Given the description of an element on the screen output the (x, y) to click on. 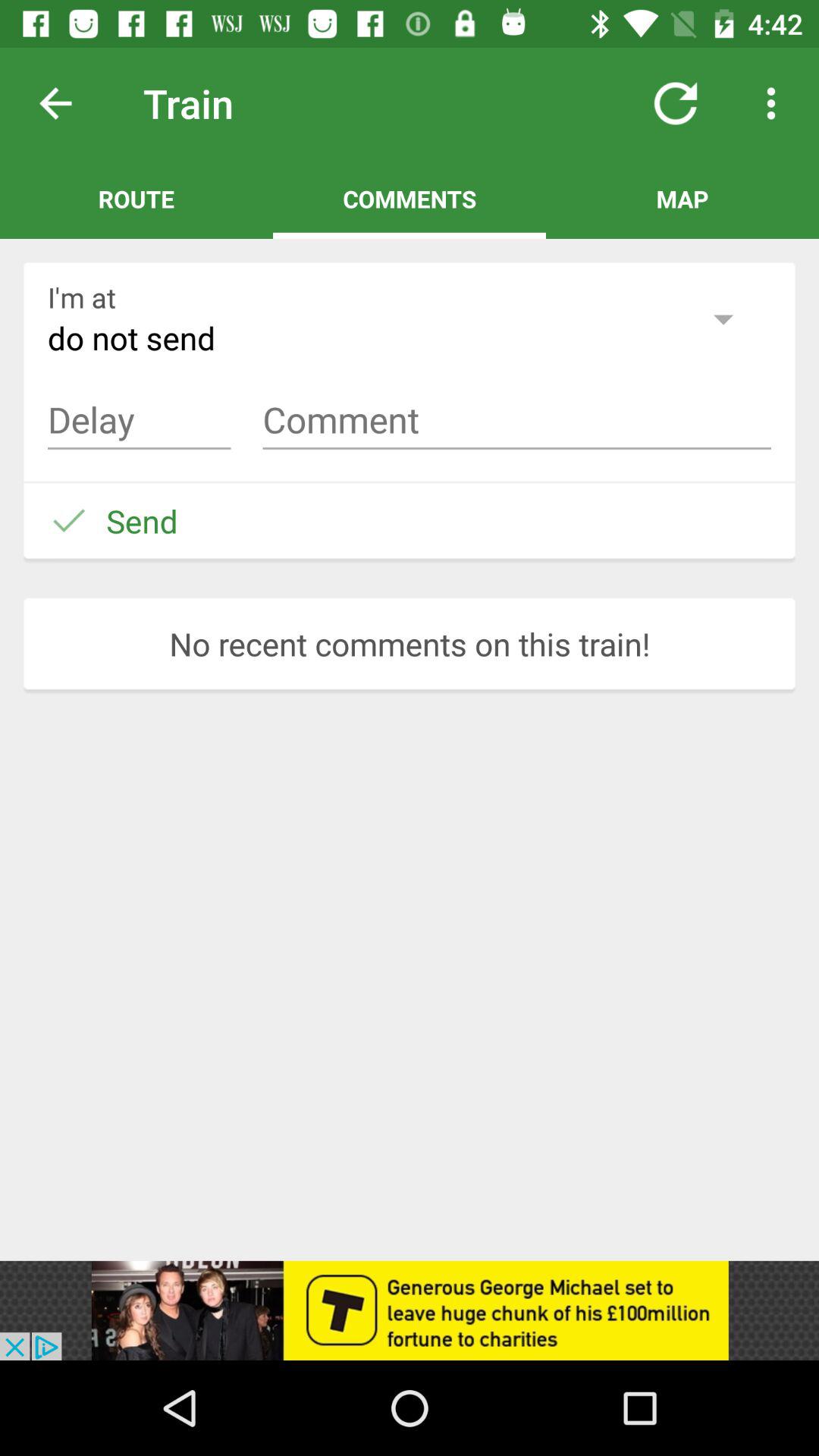
add comment (516, 420)
